Given the description of an element on the screen output the (x, y) to click on. 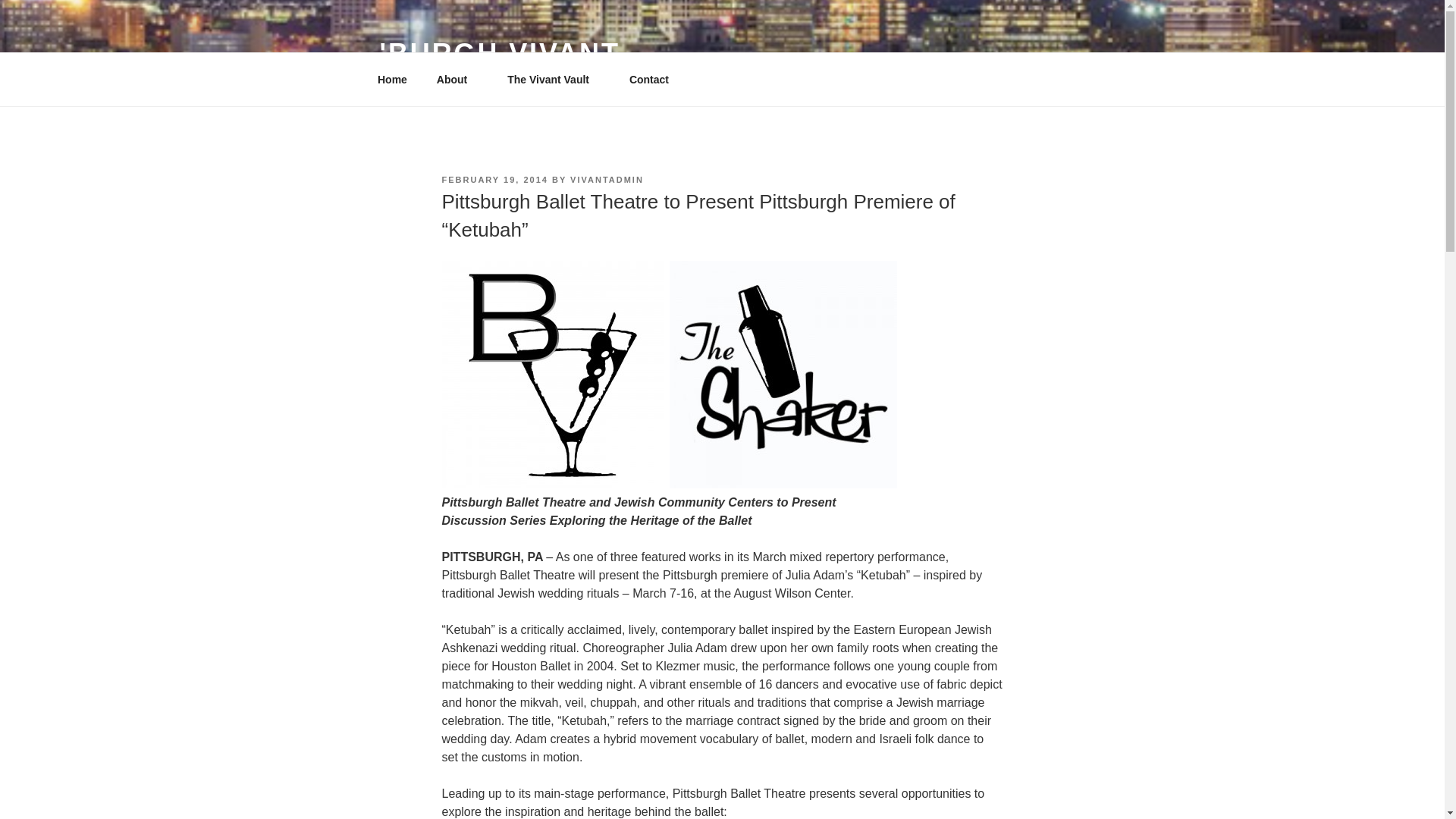
Contact (648, 78)
The Vivant Vault (553, 78)
About (456, 78)
FEBRUARY 19, 2014 (494, 179)
VIVANTADMIN (606, 179)
'BURGH VIVANT (499, 52)
Home (392, 78)
